Given the description of an element on the screen output the (x, y) to click on. 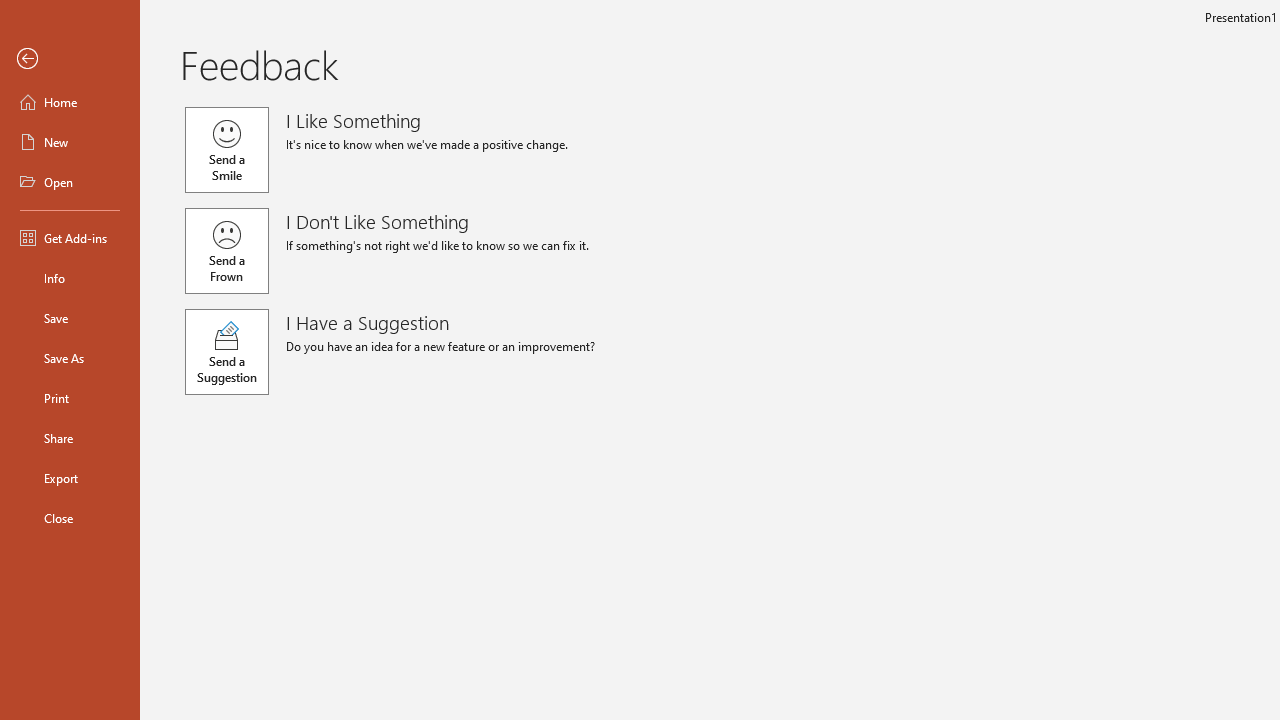
Print (69, 398)
Export (69, 477)
